Given the description of an element on the screen output the (x, y) to click on. 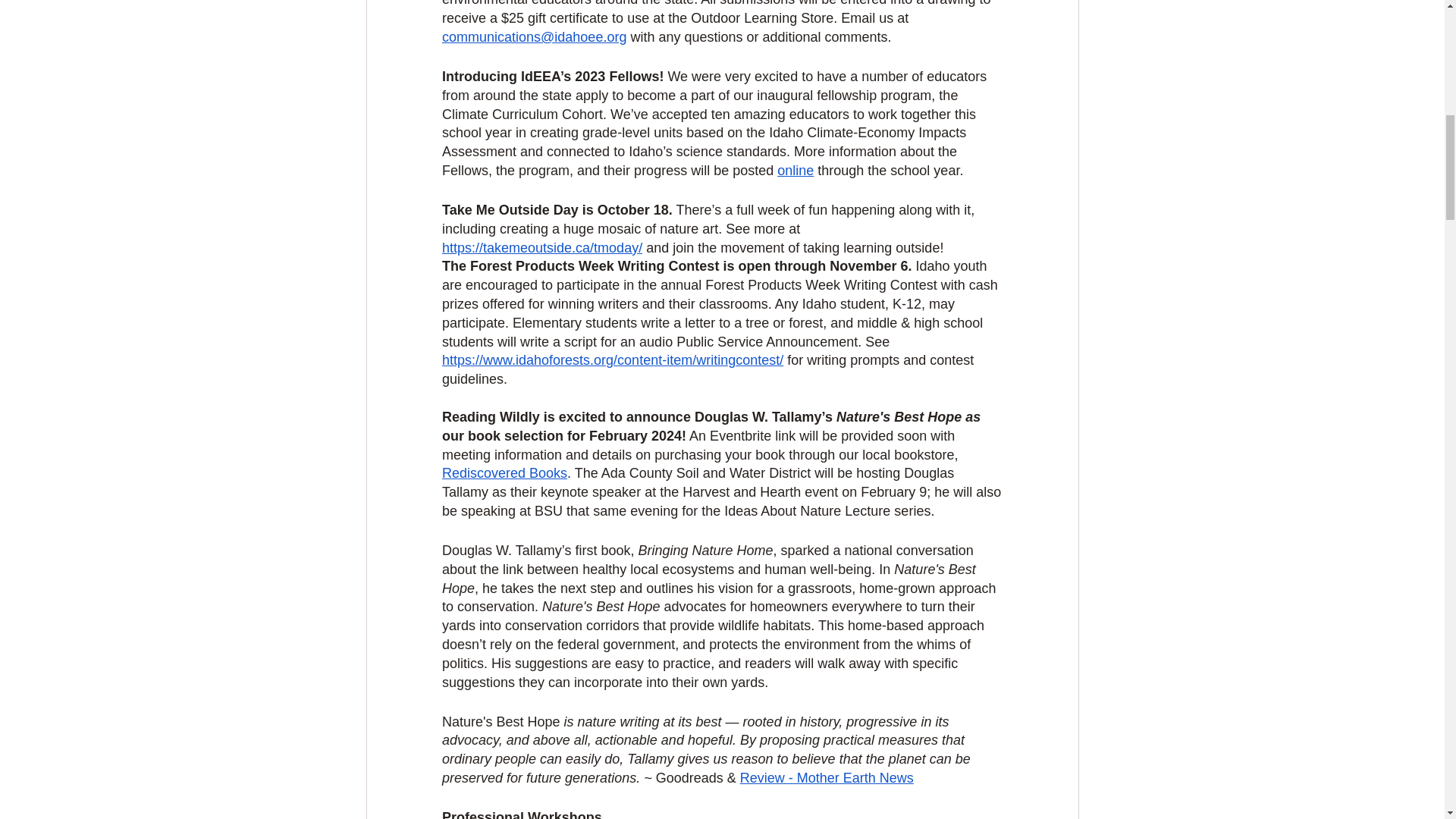
Rediscovered Books (503, 473)
Review - Mother Earth News (825, 777)
online (795, 170)
